Given the description of an element on the screen output the (x, y) to click on. 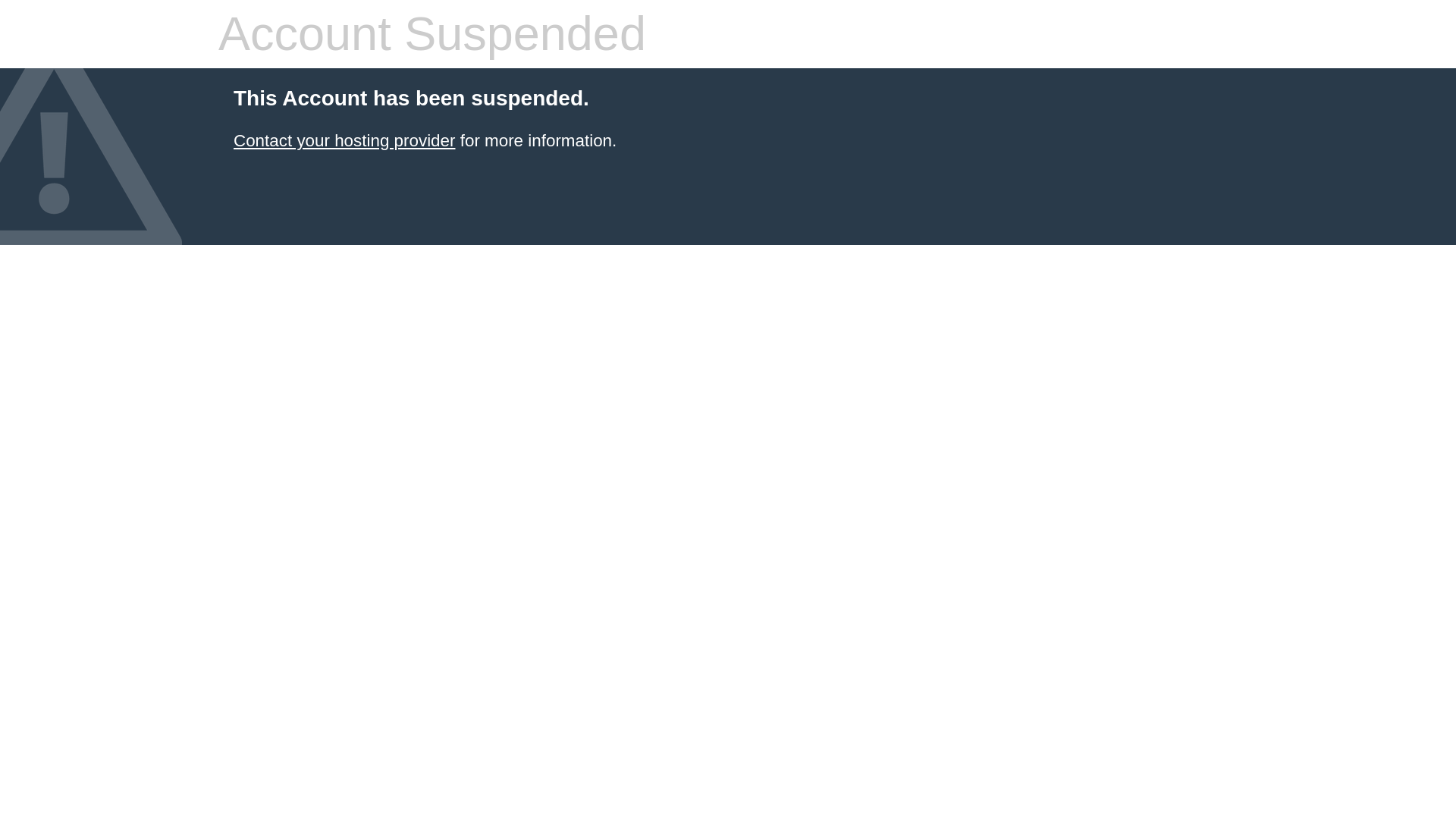
Contact your hosting provider (343, 140)
